Given the description of an element on the screen output the (x, y) to click on. 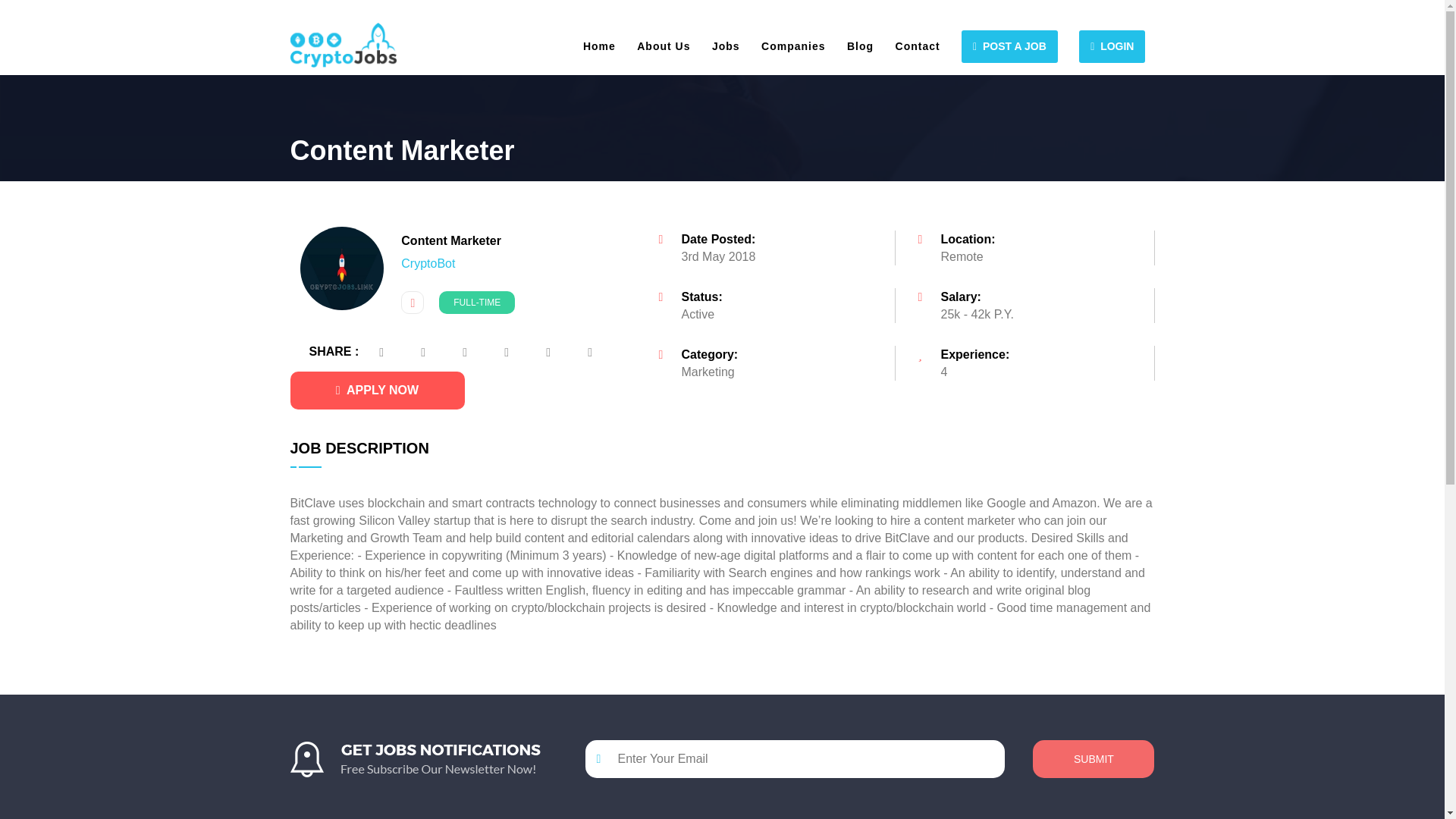
Job Portal (342, 44)
Home (599, 46)
 APPLY NOW (376, 390)
FULL-TIME (477, 302)
  POST A JOB (1009, 46)
Jobs (725, 46)
Companies (793, 46)
  LOGIN (1111, 46)
Blog (860, 46)
SUBMIT (1093, 759)
